Given the description of an element on the screen output the (x, y) to click on. 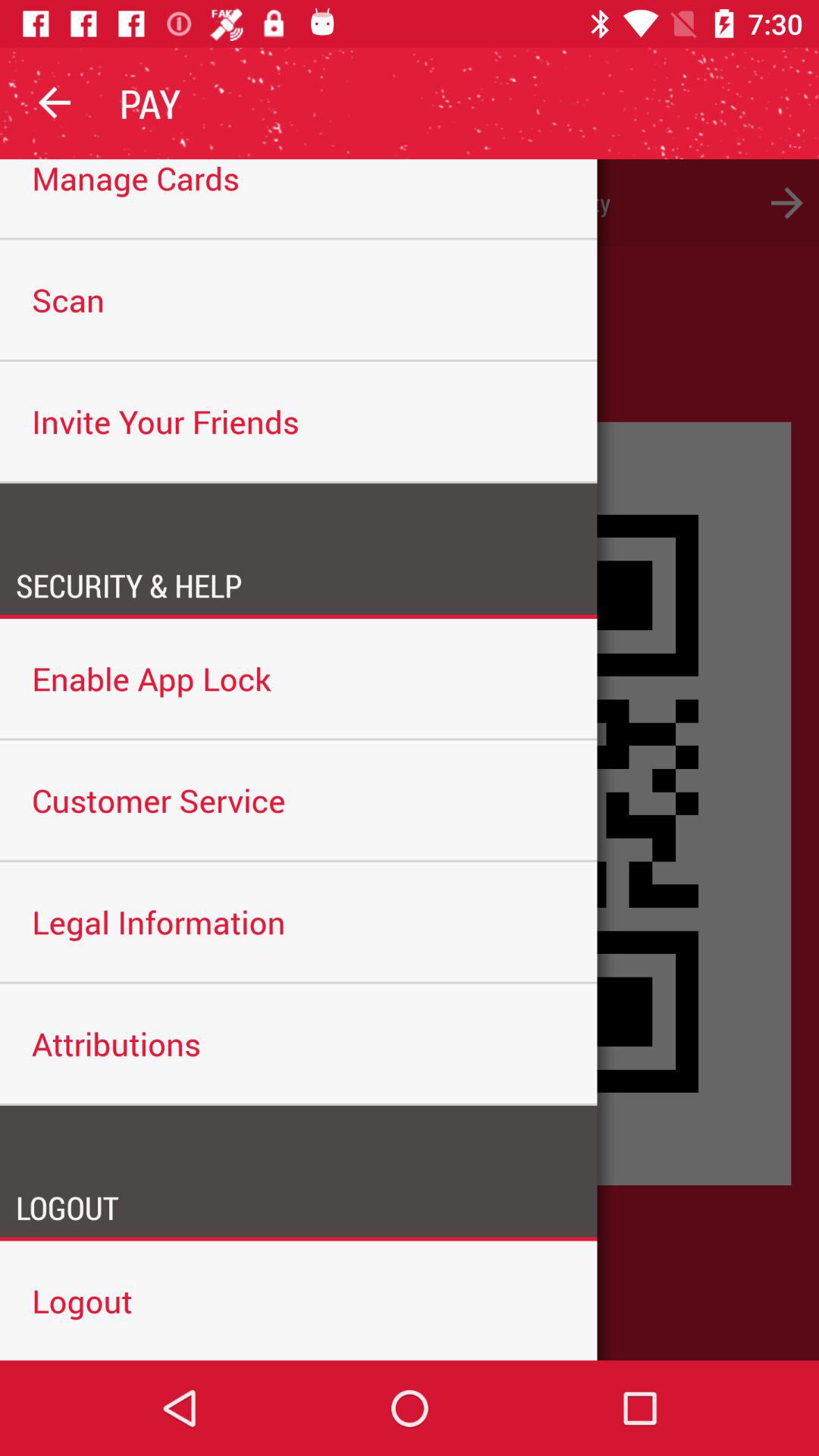
scroll until legal information icon (298, 921)
